Given the description of an element on the screen output the (x, y) to click on. 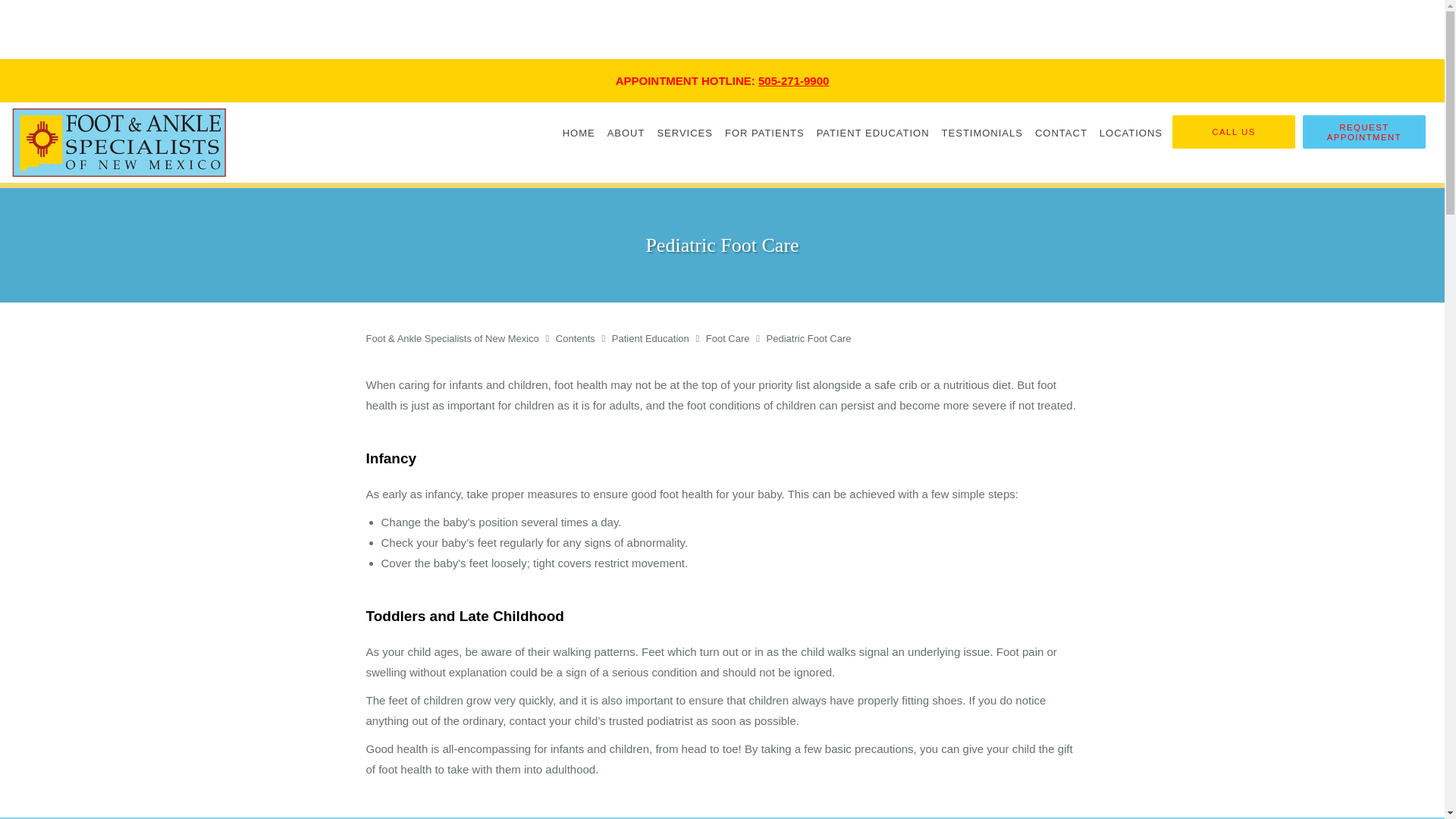
Skip to main content (74, 109)
PATIENT EDUCATION (873, 132)
FOR PATIENTS (764, 132)
505-271-9900 (793, 80)
SERVICES (684, 132)
